Given the description of an element on the screen output the (x, y) to click on. 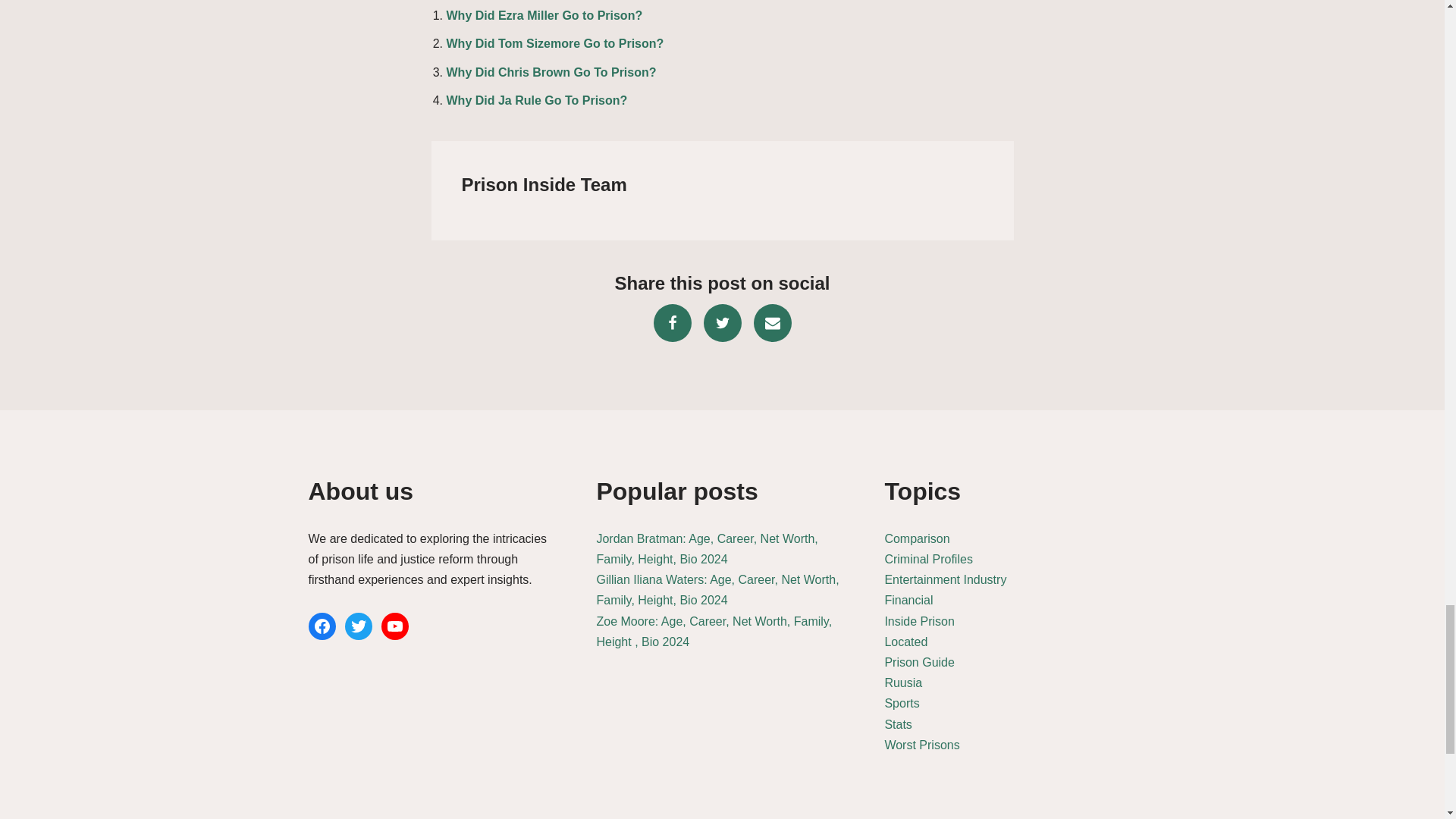
Facebook (672, 322)
Why Did Chris Brown Go To Prison? (550, 72)
Why Did Ezra Miller Go to Prison? (543, 15)
Why Did Tom Sizemore Go to Prison? (554, 42)
Why Did Ja Rule Go To Prison? (536, 100)
Twitter (722, 322)
